Given the description of an element on the screen output the (x, y) to click on. 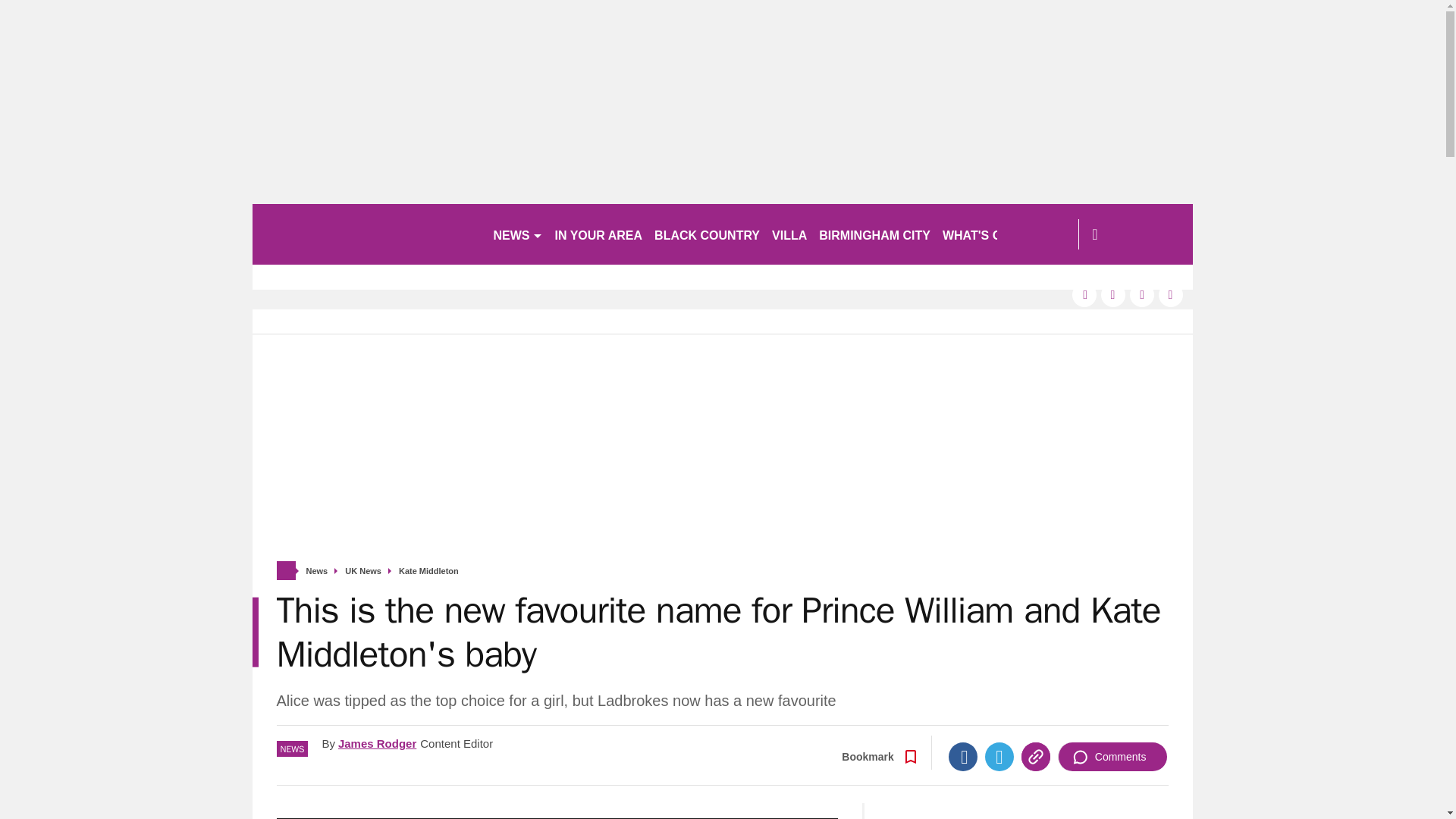
Comments (1112, 756)
tiktok (1141, 294)
Twitter (999, 756)
WHAT'S ON (982, 233)
BLACK COUNTRY (706, 233)
Facebook (962, 756)
birminghammail (365, 233)
facebook (1083, 294)
NEWS (517, 233)
twitter (1112, 294)
BIRMINGHAM CITY (874, 233)
IN YOUR AREA (598, 233)
instagram (1170, 294)
